Given the description of an element on the screen output the (x, y) to click on. 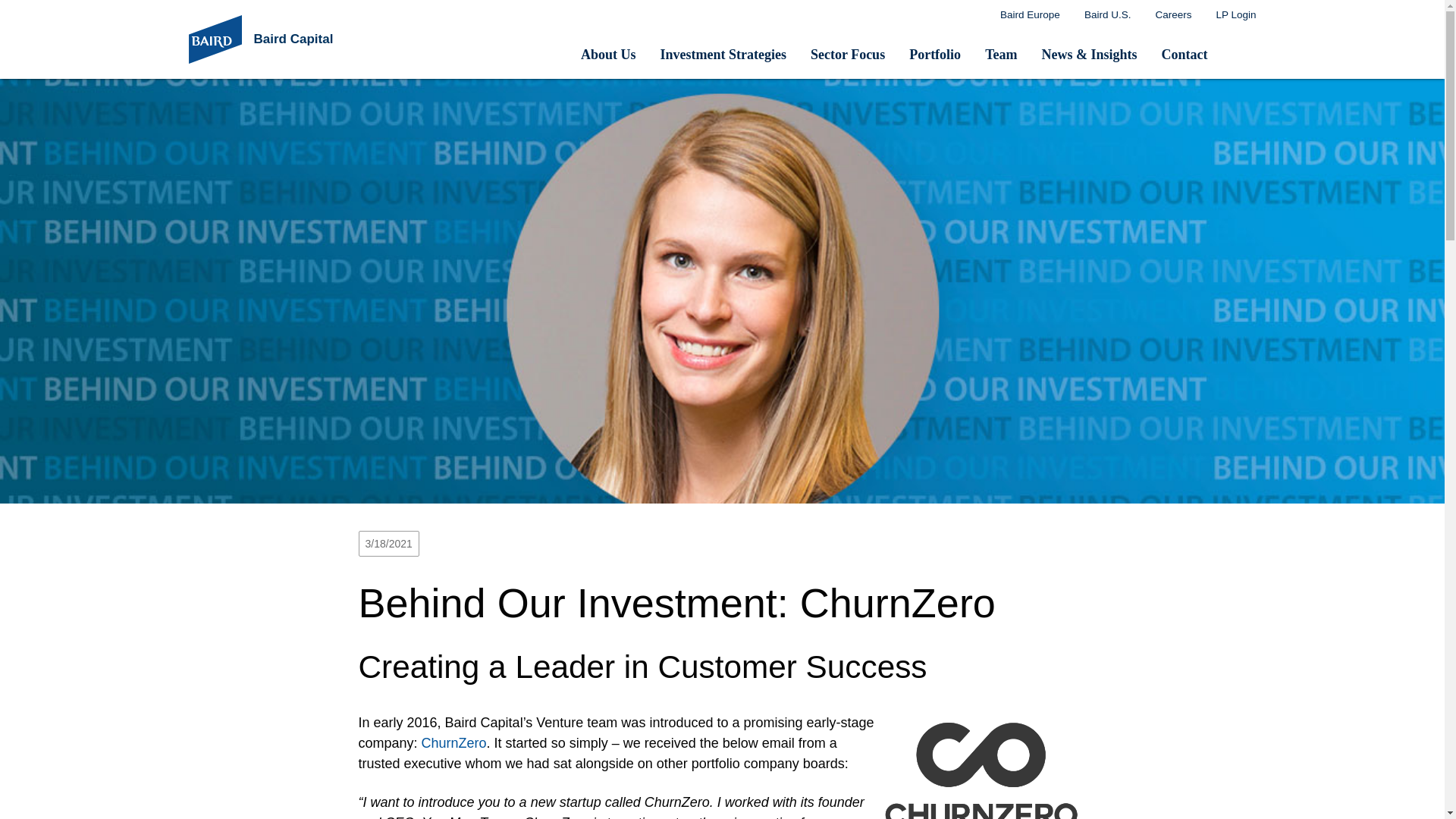
Careers (1173, 15)
Baird Europe (1029, 15)
Sector Focus (846, 54)
Baird Capital (296, 39)
LP Login (1236, 15)
About Us (608, 54)
Team (1000, 54)
Investment Strategies (722, 54)
Baird U.S. (1106, 15)
Portfolio (934, 54)
